Given the description of an element on the screen output the (x, y) to click on. 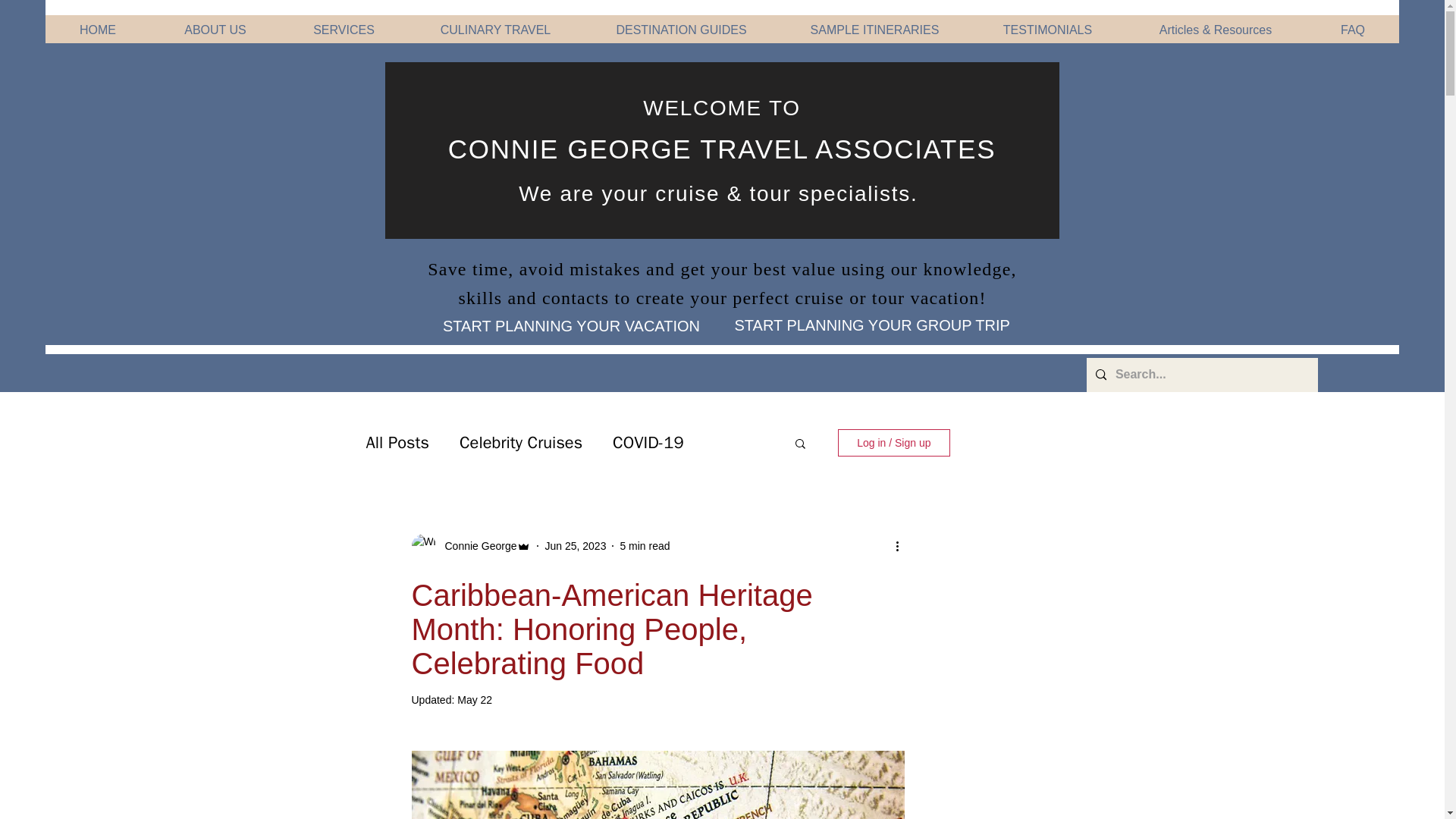
5 min read (644, 545)
May 22 (474, 699)
ABOUT US (215, 22)
HOME (97, 22)
Celebrity Cruises (521, 442)
All Posts (397, 442)
FAQ (1352, 22)
CULINARY TRAVEL (495, 22)
START PLANNING YOUR VACATION (571, 326)
START PLANNING YOUR GROUP TRIP (871, 325)
Connie George (475, 546)
Jun 25, 2023 (574, 545)
COVID-19 (648, 442)
